Given the description of an element on the screen output the (x, y) to click on. 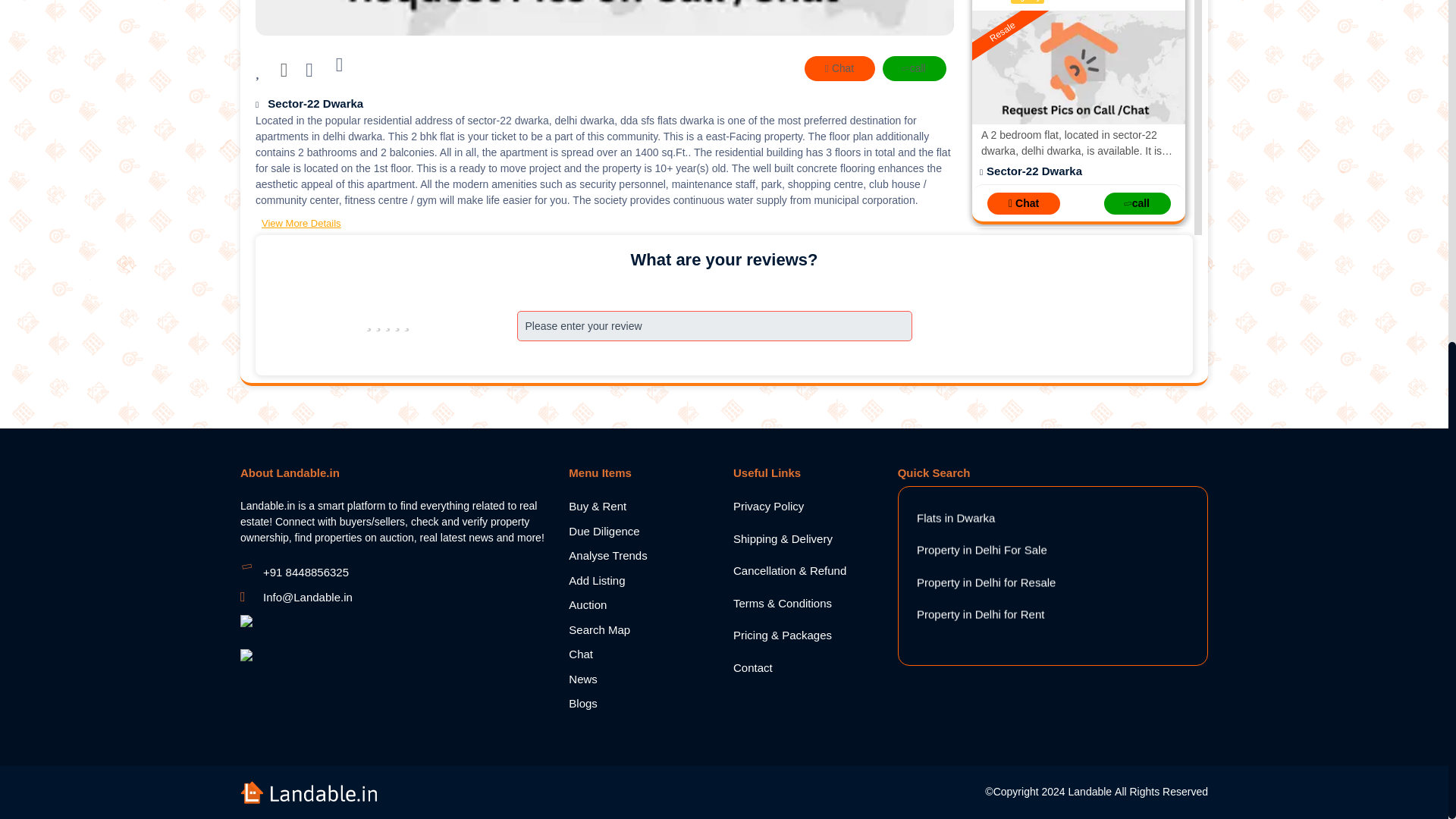
2 Bhk Apartment In Sector-22 Dwarka (1078, 67)
2 Bhk Apartment In Sector-22 Dwarka (1078, 620)
Save as Bookmark (311, 72)
2 Bhk Apartment In Sector-22 Dwarka (1078, 344)
